Given the description of an element on the screen output the (x, y) to click on. 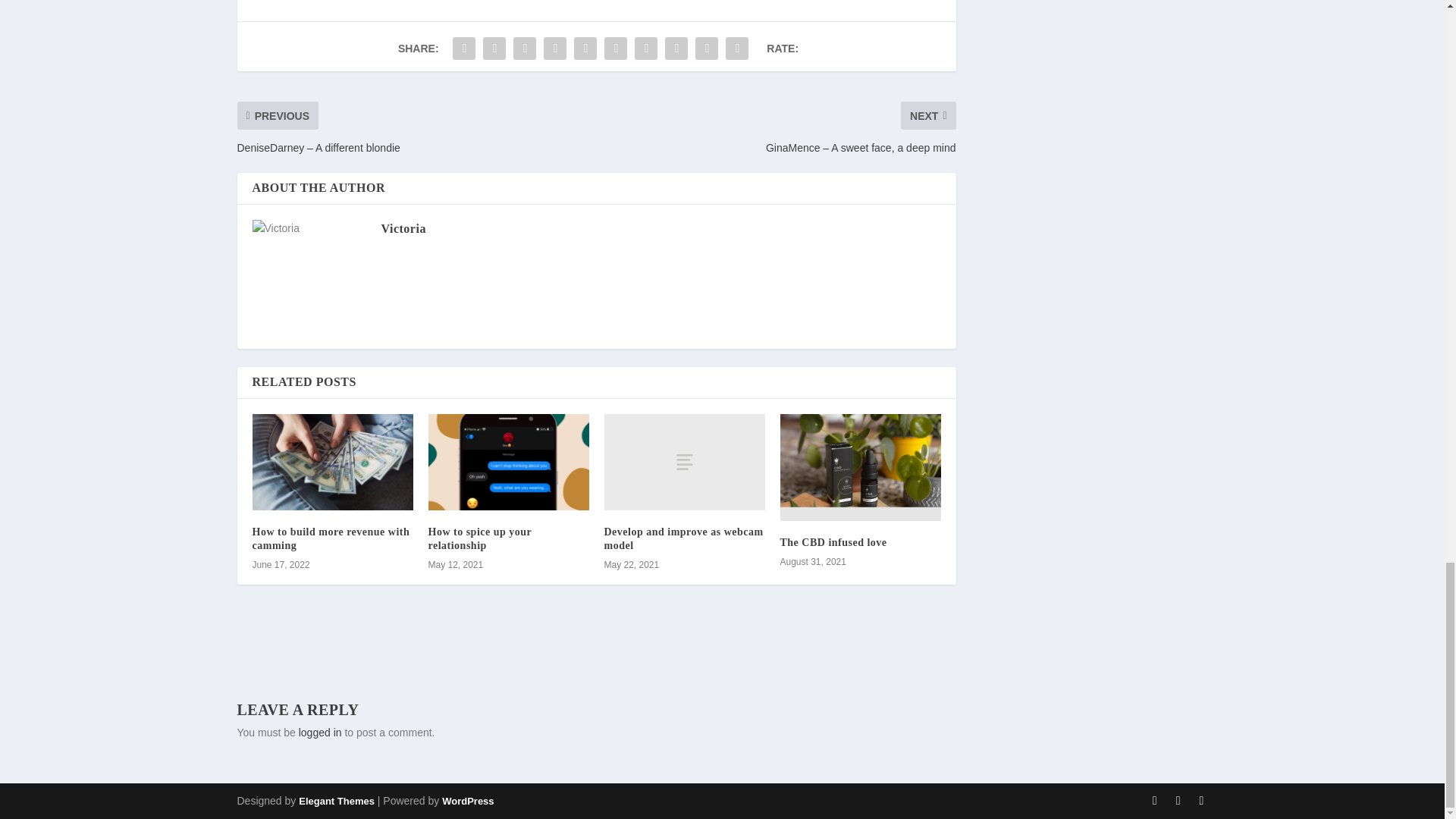
View all posts by Victoria (402, 228)
How to build more revenue with camming (330, 538)
Victoria (402, 228)
